Given the description of an element on the screen output the (x, y) to click on. 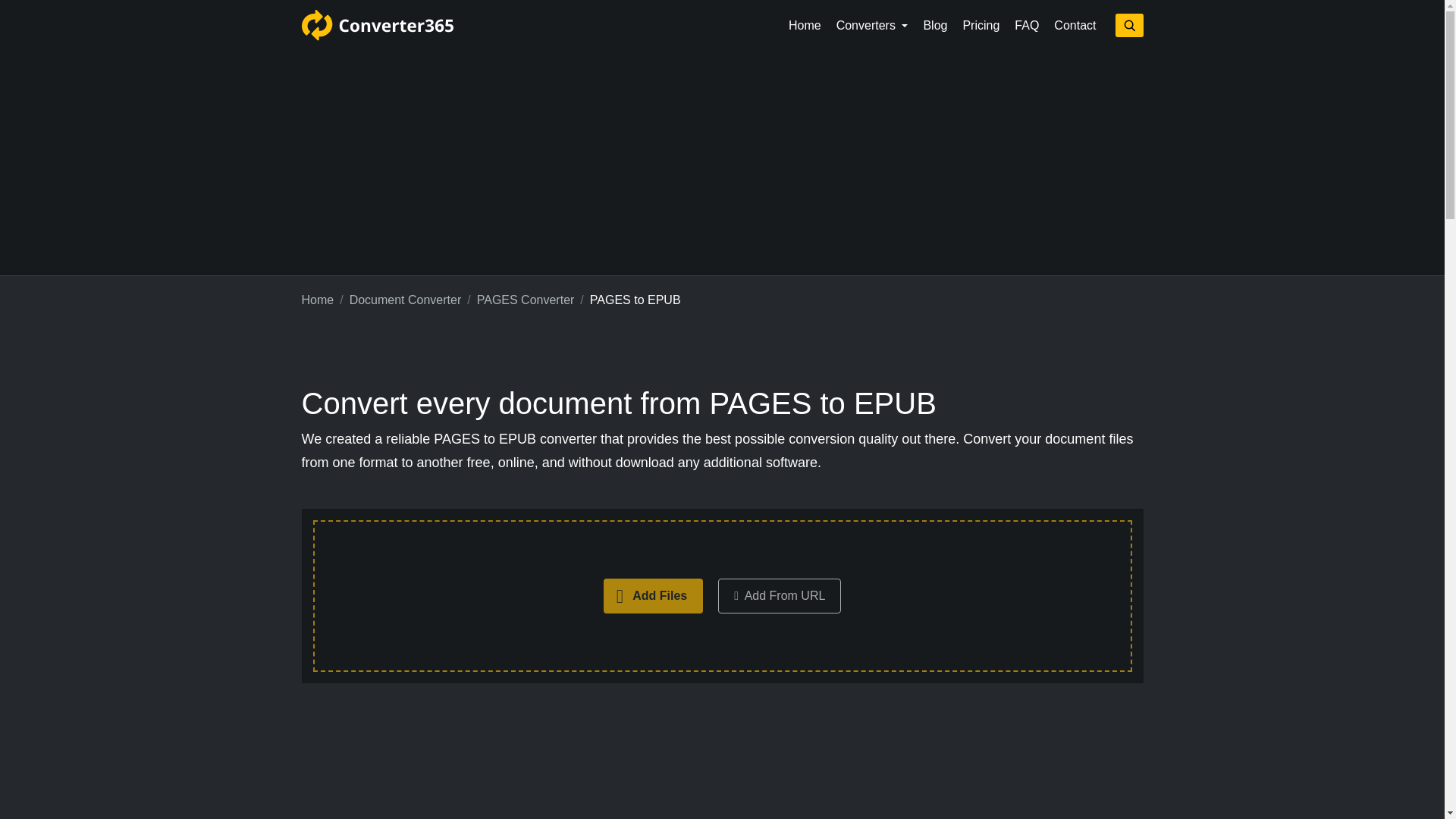
Converter365 (376, 24)
Pricing (981, 25)
Home (317, 300)
PAGES Converter (526, 300)
Contact (1074, 25)
Converters (871, 25)
Search for supported converters (1128, 24)
Add files from computer (653, 595)
Document Converter (405, 300)
FAQ (1026, 25)
Blog (935, 25)
Drop files here (721, 595)
Add file from url (779, 595)
Home (804, 25)
